Given the description of an element on the screen output the (x, y) to click on. 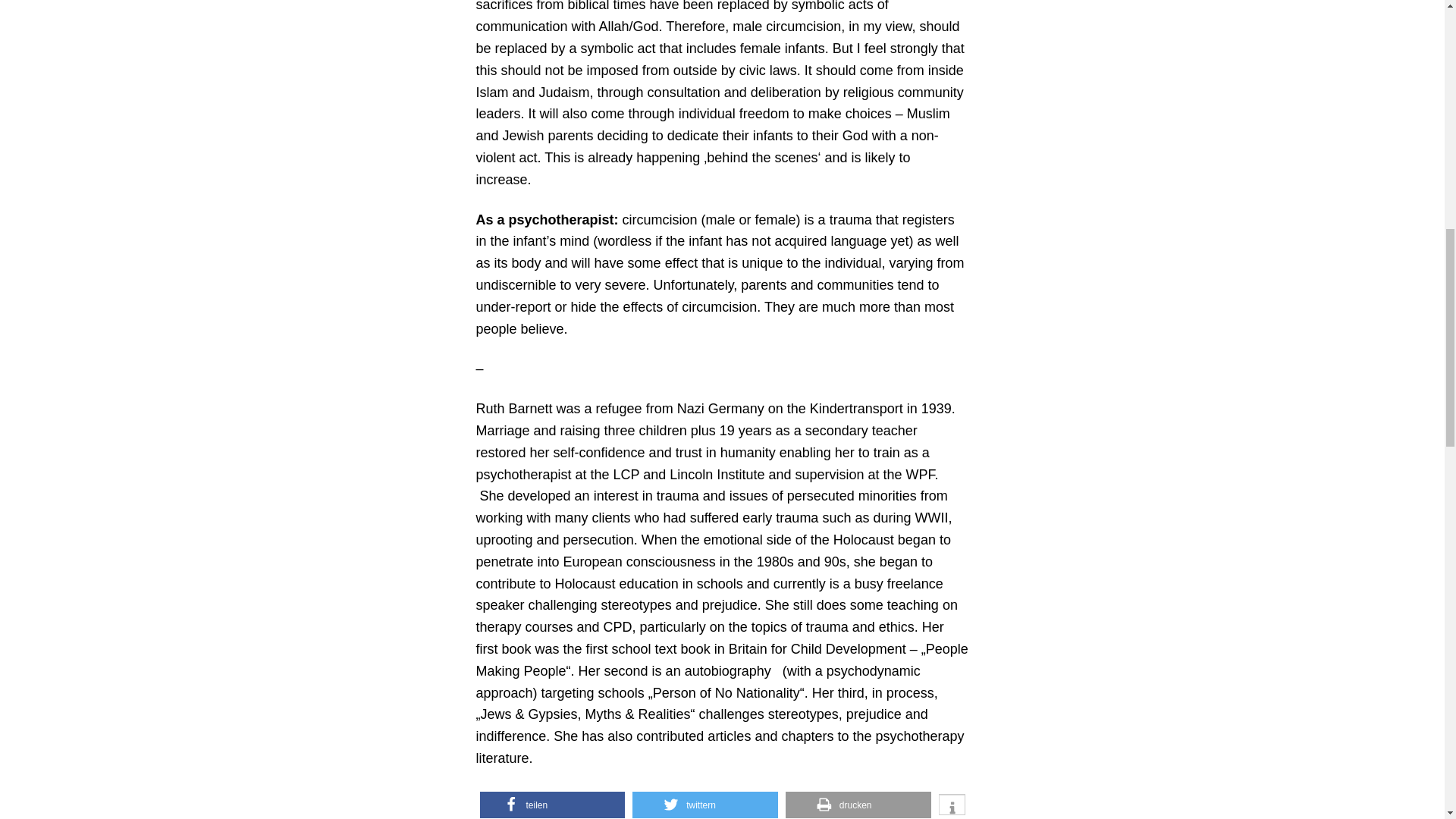
twittern  (704, 804)
Weitere Informationen (952, 806)
teilen  (551, 804)
Bei Twitter teilen (704, 804)
Bei Facebook teilen (551, 804)
drucken (858, 804)
drucken  (858, 804)
